Given the description of an element on the screen output the (x, y) to click on. 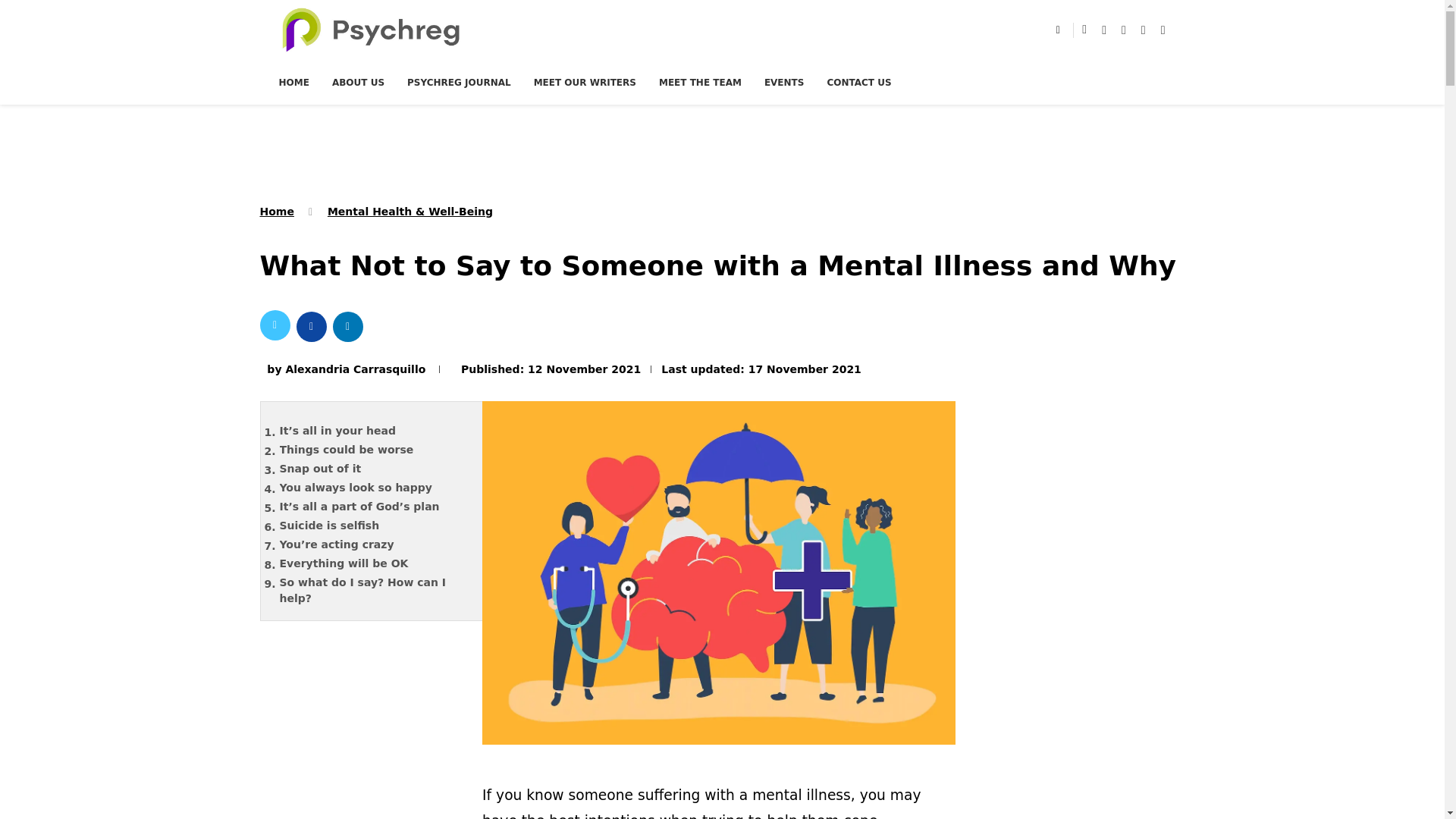
So what do I say? How can I help? (373, 590)
Snap out of it (373, 468)
Suicide is selfish (373, 525)
CONTACT US (859, 82)
You always look so happy (373, 487)
ABOUT US (357, 82)
PSYCHREG JOURNAL (459, 82)
MEET OUR WRITERS (585, 82)
MEET THE TEAM (700, 82)
